Given the description of an element on the screen output the (x, y) to click on. 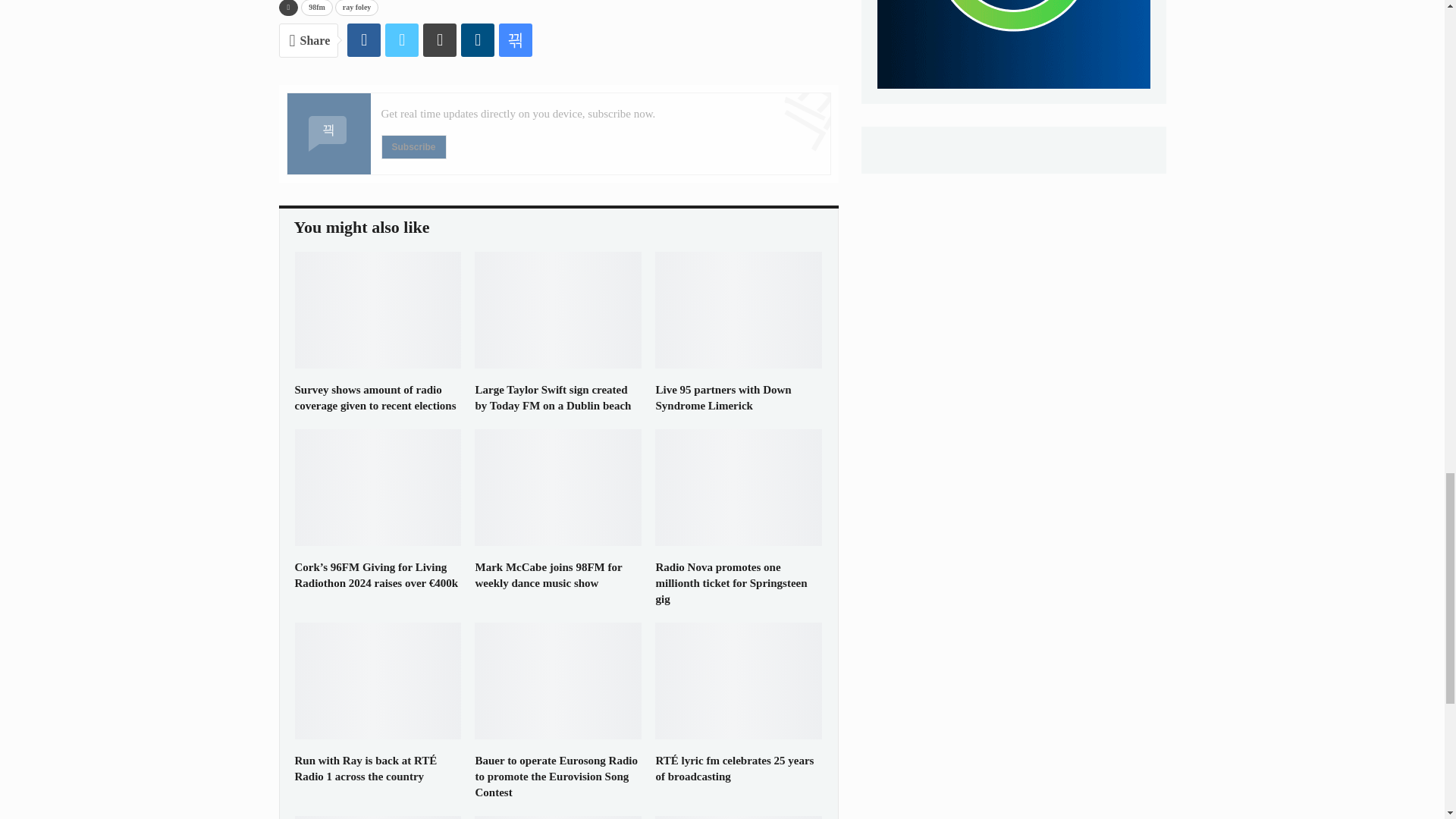
Live 95 partners with Down Syndrome Limerick (722, 397)
Radio Nova promotes one millionth ticket for Springsteen gig (738, 487)
Radio Nova promotes one millionth ticket for Springsteen gig (730, 583)
Mark McCabe joins 98FM for weekly dance music show (558, 487)
ray foley (356, 7)
98fm (317, 7)
Mark McCabe joins 98FM for weekly dance music show (547, 574)
Live 95 partners with Down Syndrome Limerick (738, 309)
